Given the description of an element on the screen output the (x, y) to click on. 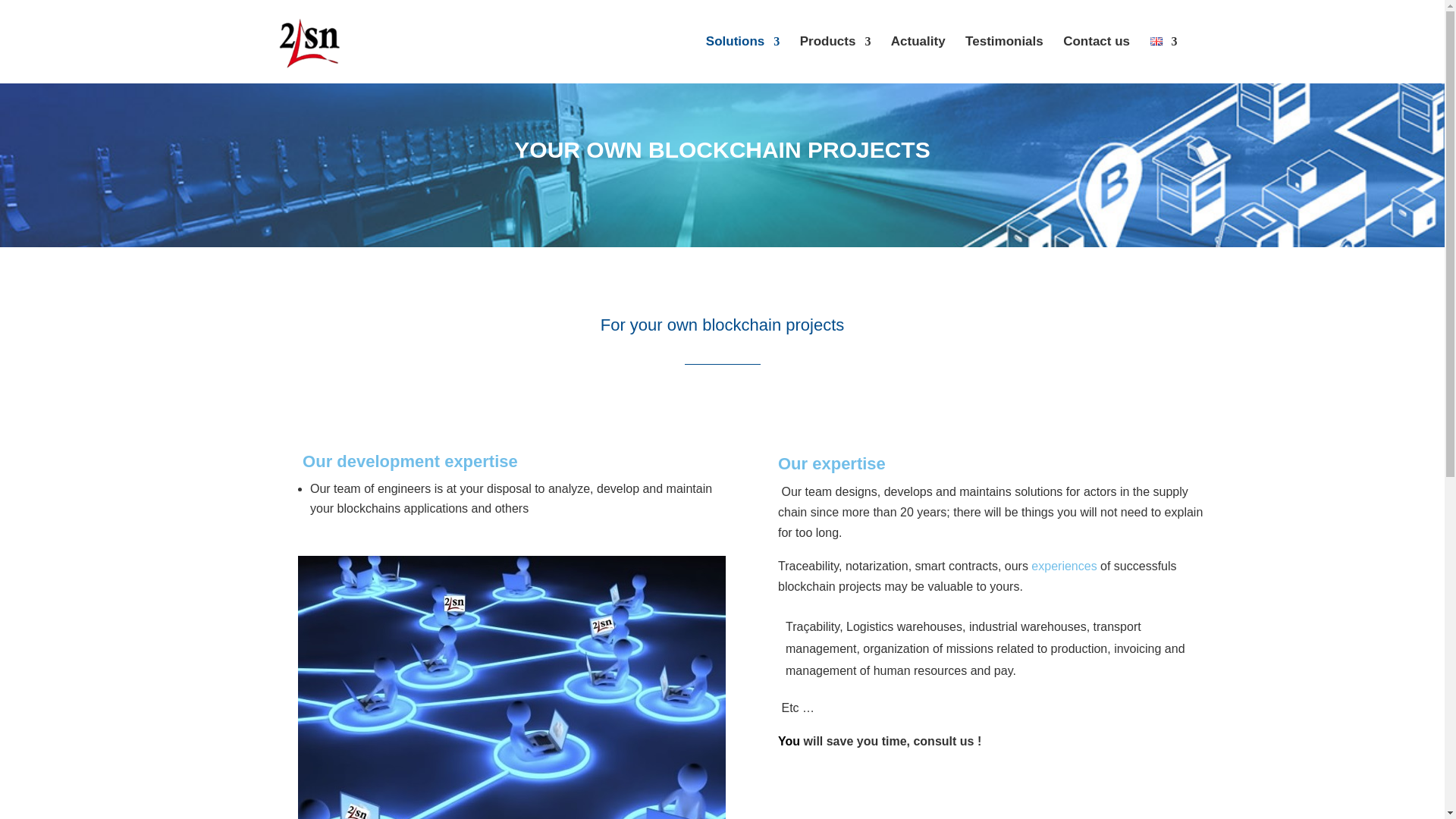
Products (834, 59)
Contact us (1095, 59)
Testimonials (1004, 59)
experiences (1062, 565)
Actuality (917, 59)
blockchain2sn (511, 687)
Solutions (742, 59)
